Given the description of an element on the screen output the (x, y) to click on. 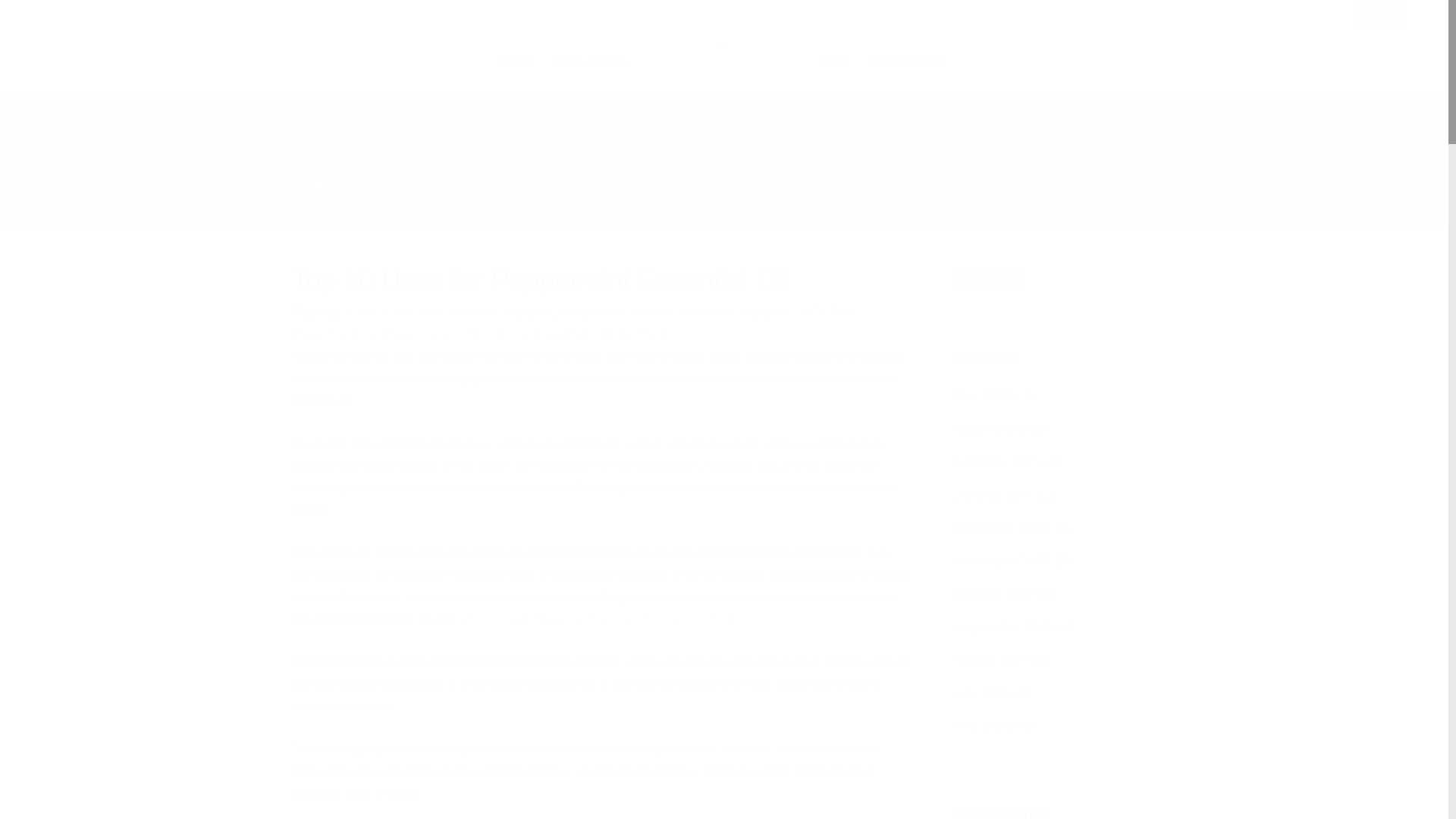
Angela Davis (384, 312)
Essential Oils (908, 60)
Essential Oils for Bugs (600, 333)
Sign Me Up! (1083, 128)
DoTERRA Essential Oils (574, 323)
Respiratory Health (614, 312)
Blog (834, 60)
Digestive Support (496, 312)
Meet Angela (591, 60)
Essential Oils for Focus (453, 333)
